Given the description of an element on the screen output the (x, y) to click on. 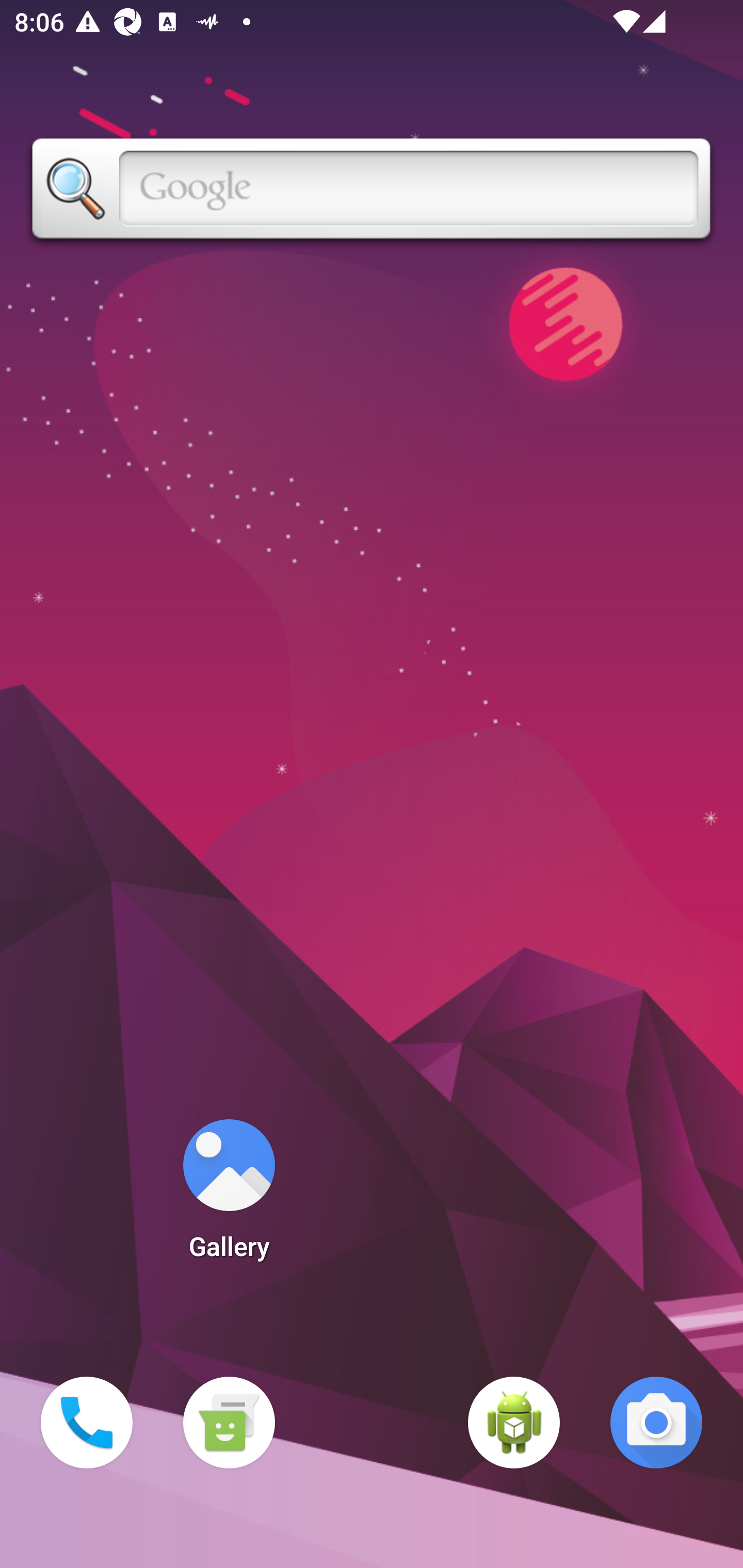
Gallery (228, 1195)
Phone (86, 1422)
Messaging (228, 1422)
WebView Browser Tester (513, 1422)
Camera (656, 1422)
